Given the description of an element on the screen output the (x, y) to click on. 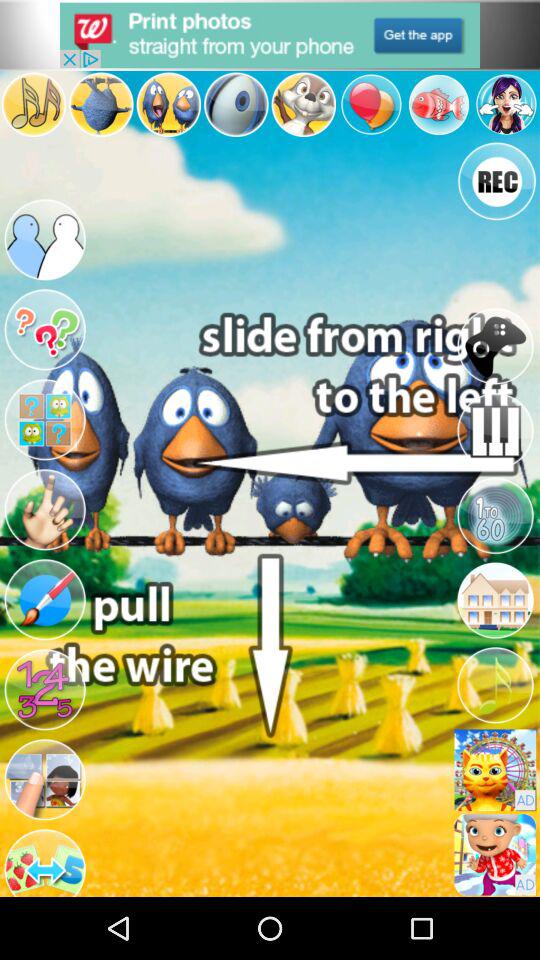
add option (270, 35)
